Given the description of an element on the screen output the (x, y) to click on. 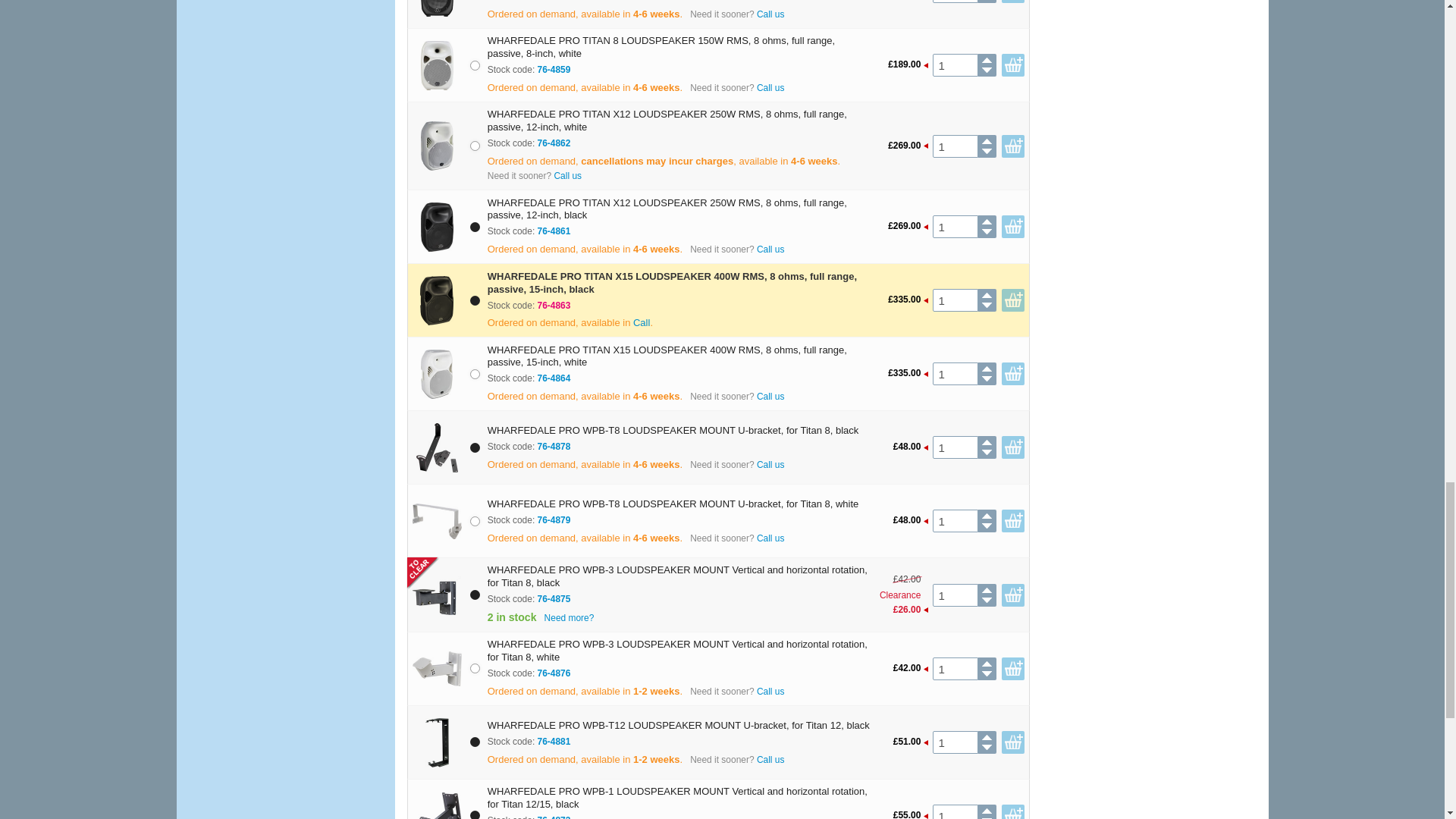
1 (954, 300)
1 (954, 373)
1 (954, 226)
1 (954, 446)
1 (954, 65)
1 (954, 1)
1 (954, 146)
